Given the description of an element on the screen output the (x, y) to click on. 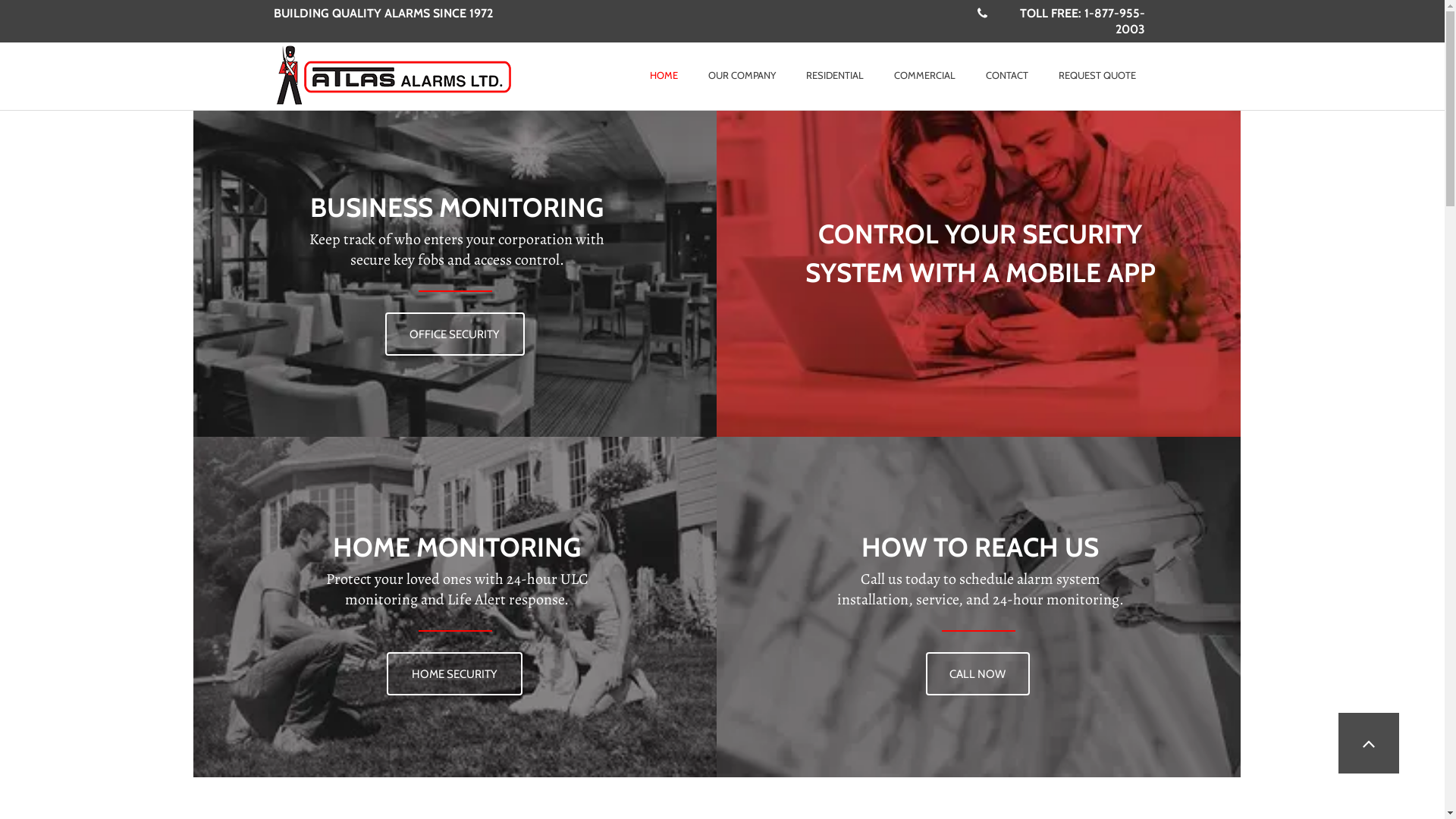
REQUEST QUOTE Element type: text (1097, 75)
OFFICE SECURITY Element type: text (454, 333)
RESIDENTIAL Element type: text (834, 75)
COMMERCIAL Element type: text (924, 75)
CALL NOW Element type: text (977, 673)
CONTACT Element type: text (1006, 75)
HOME SECURITY Element type: text (454, 673)
OFFICE SECURITY Element type: text (454, 348)
1-877-955-2003 Element type: text (1114, 21)
HOME Element type: text (663, 75)
OUR COMPANY Element type: text (741, 75)
